Given the description of an element on the screen output the (x, y) to click on. 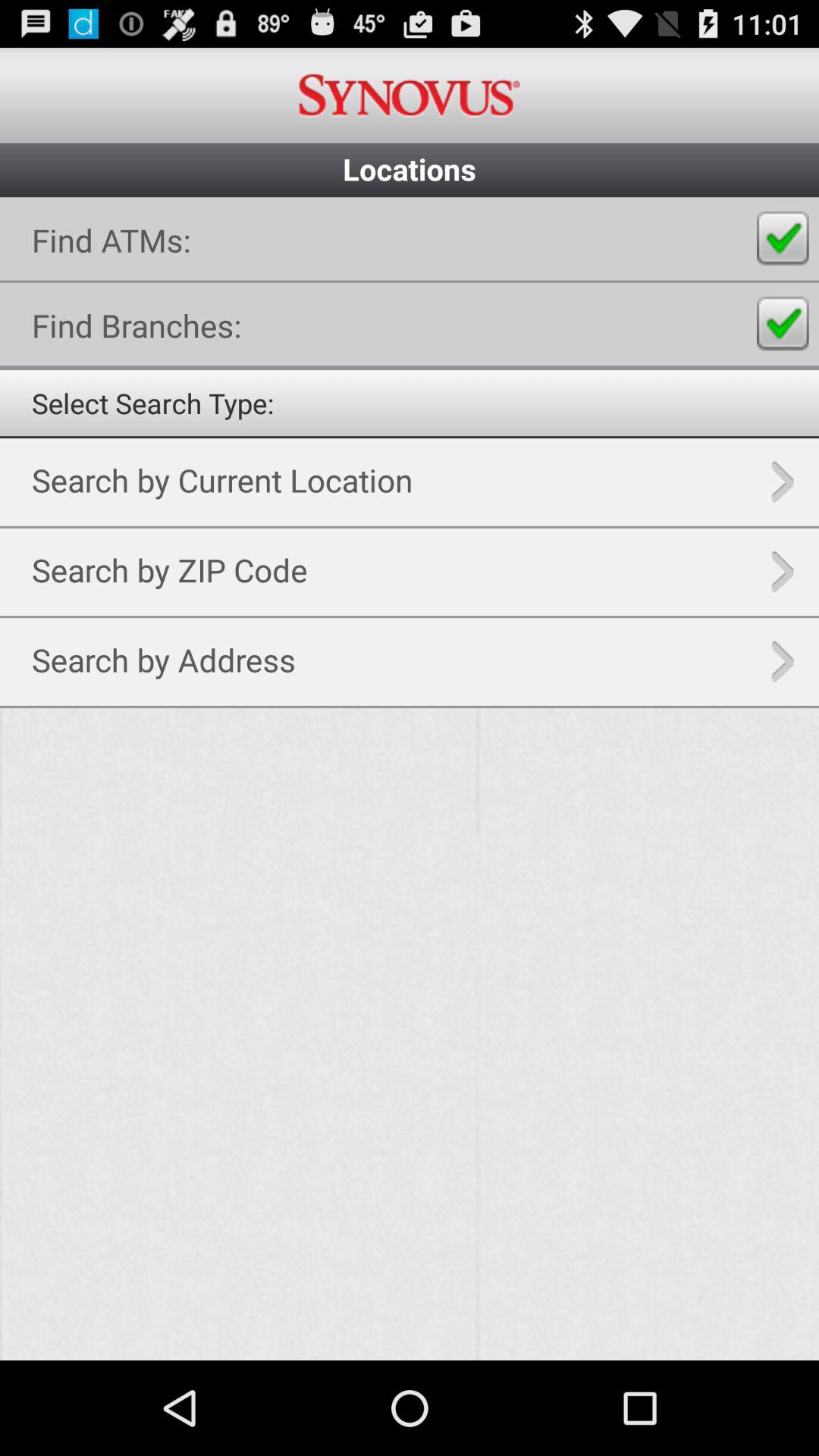
radio button for finding atms (782, 238)
